Given the description of an element on the screen output the (x, y) to click on. 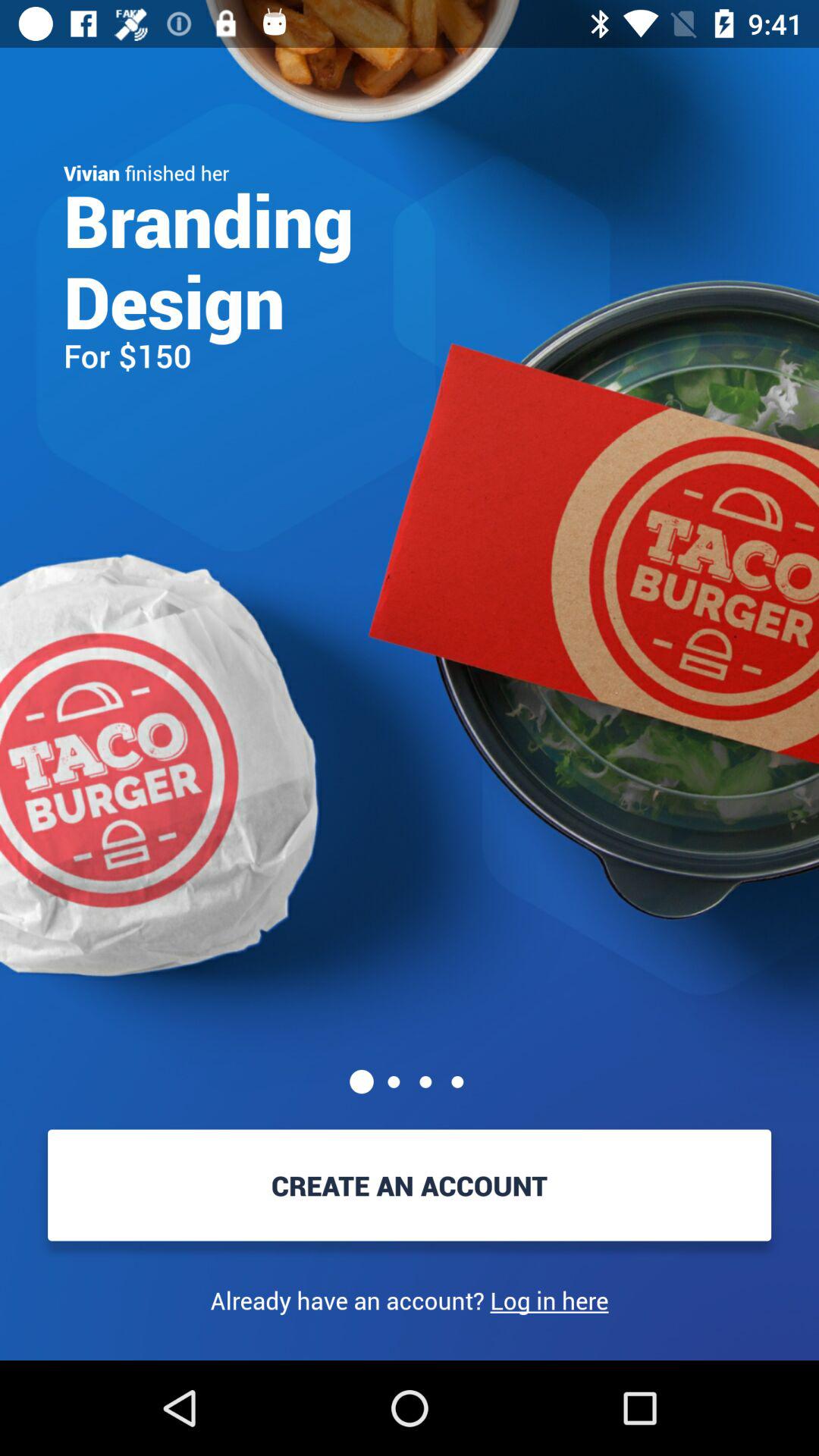
turn off the item below create an account item (409, 1300)
